Given the description of an element on the screen output the (x, y) to click on. 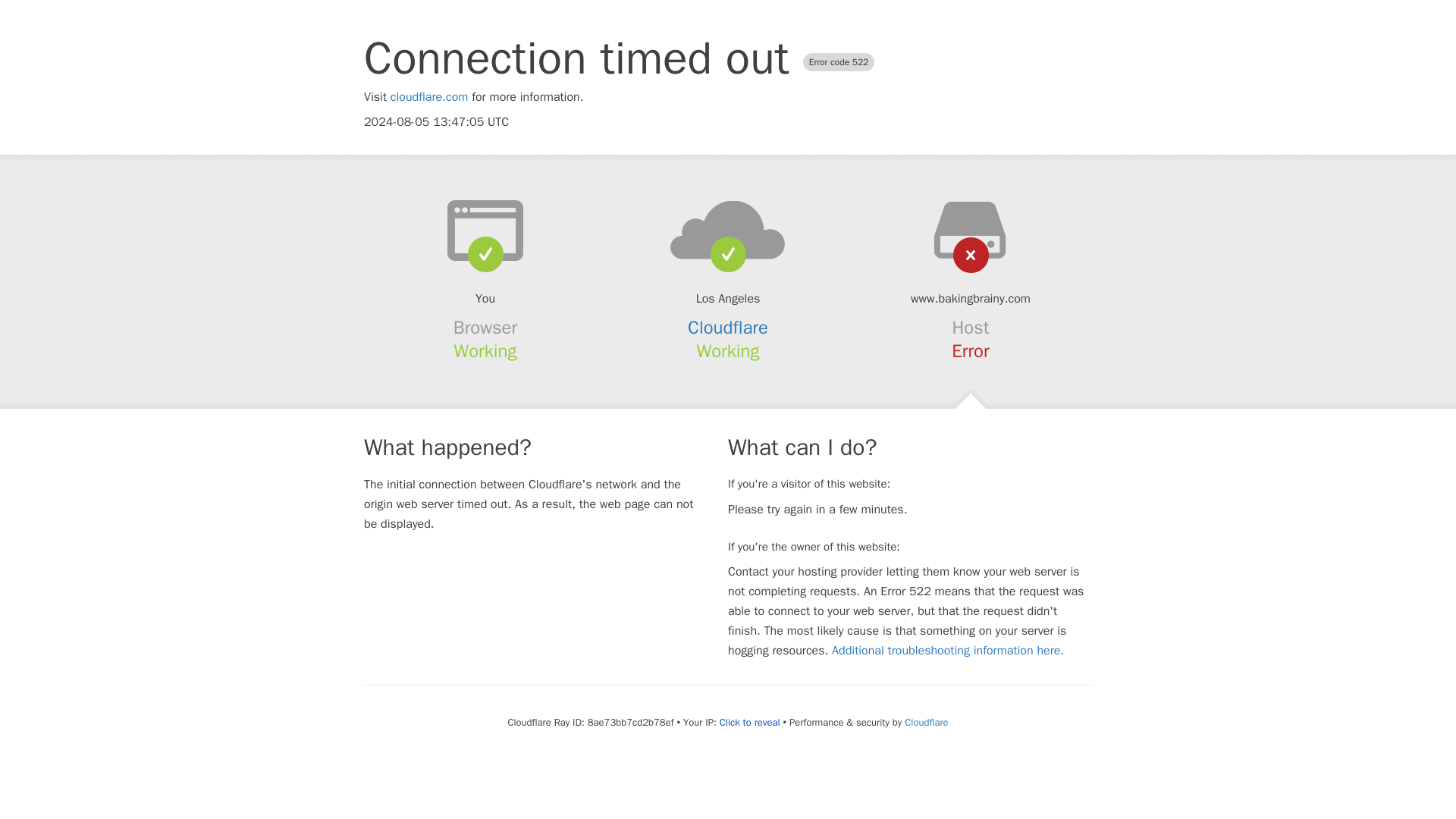
Additional troubleshooting information here. (947, 650)
Cloudflare (727, 327)
cloudflare.com (429, 96)
Cloudflare (925, 721)
Click to reveal (749, 722)
